Given the description of an element on the screen output the (x, y) to click on. 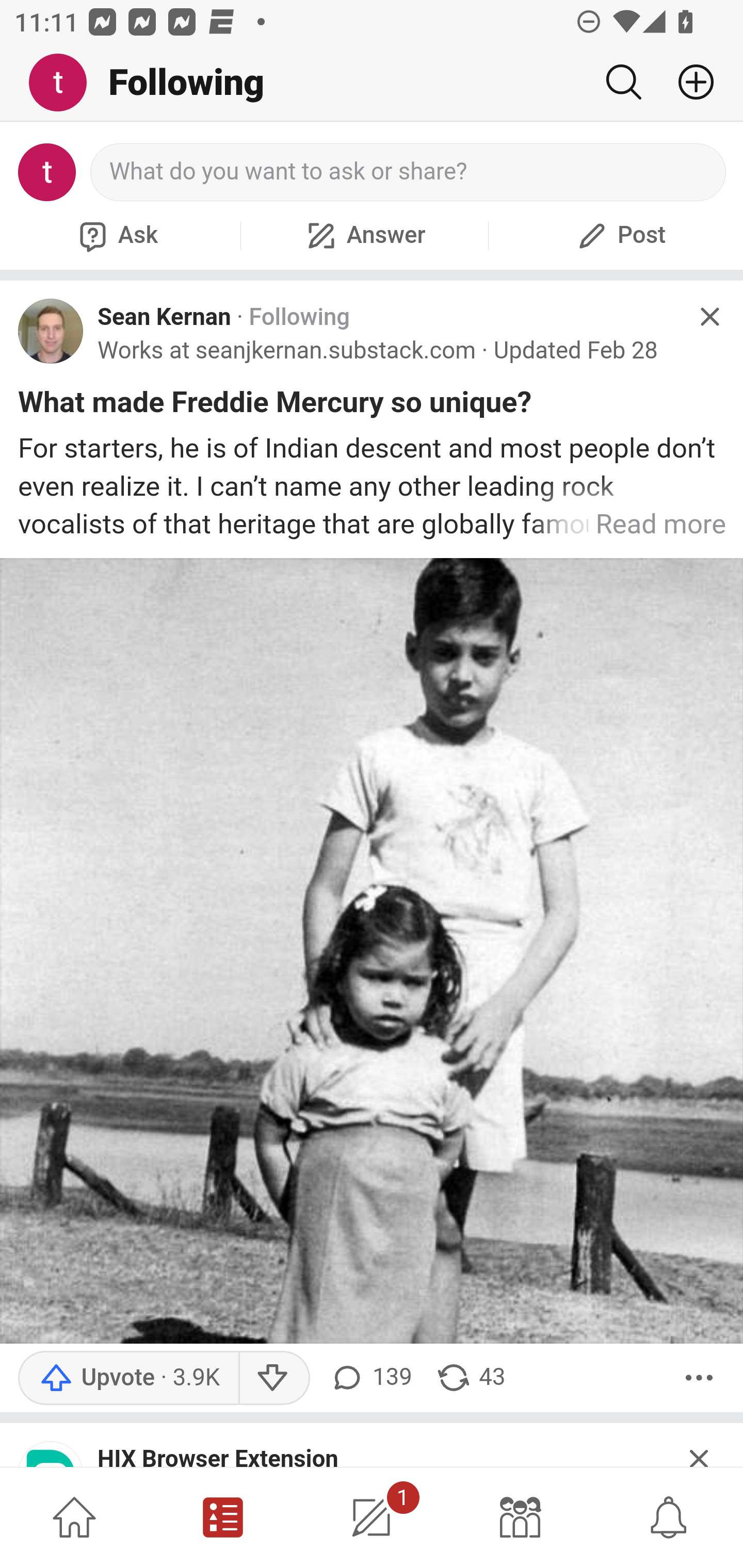
Me (64, 83)
Search (623, 82)
Add (688, 82)
What do you want to ask or share? (408, 172)
Ask (116, 234)
Answer (364, 234)
Post (618, 234)
Hide (709, 316)
Profile photo for Sean Kernan (50, 330)
Sean Kernan (164, 316)
Upvote (127, 1377)
Downvote (273, 1377)
139 comments (369, 1377)
43 shares (470, 1377)
More (699, 1377)
1 (371, 1517)
